Given the description of an element on the screen output the (x, y) to click on. 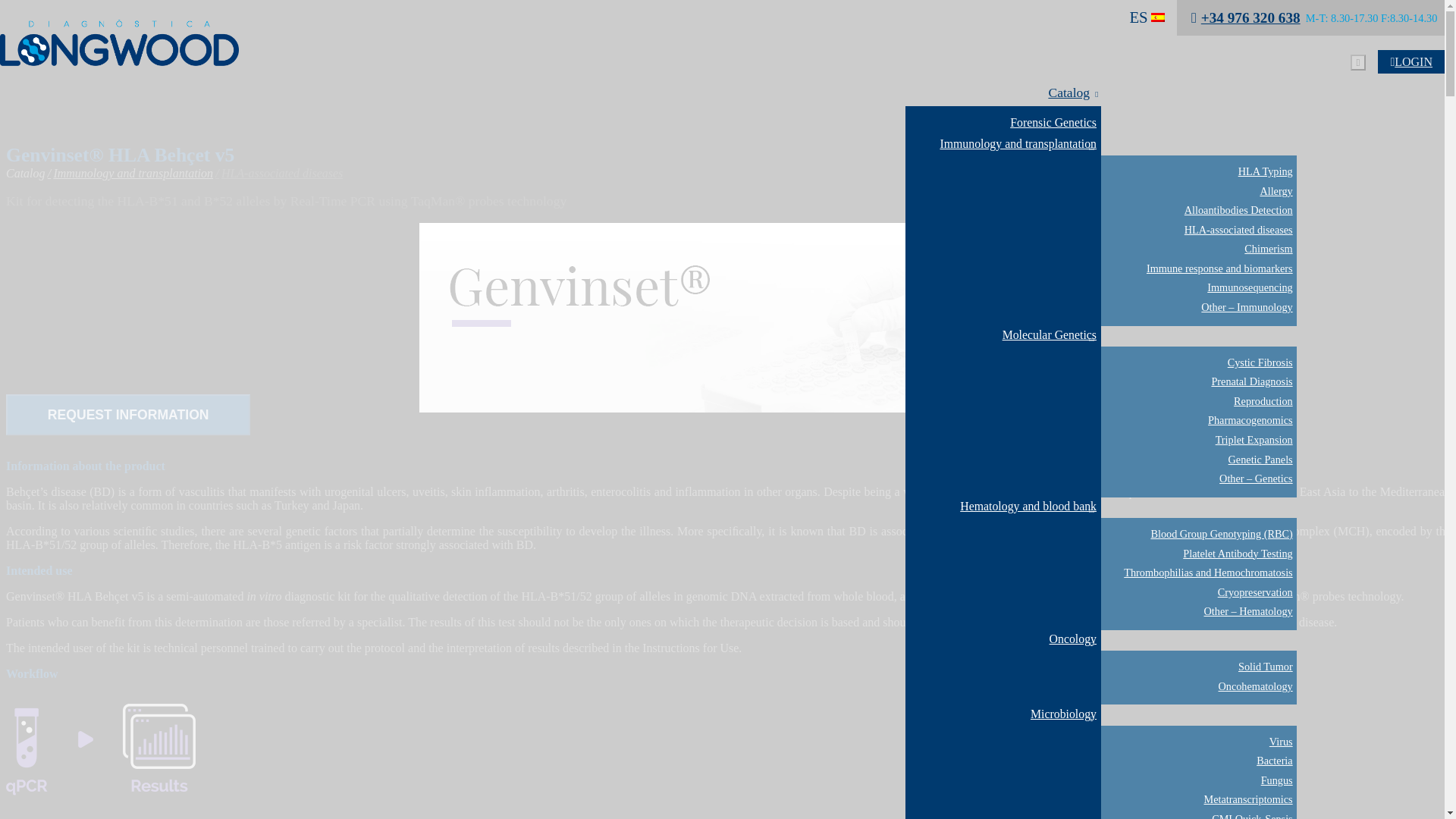
Immune response and biomarkers (1198, 270)
HLA Typing (1198, 172)
Cystic Fibrosis (1198, 363)
Microbiology (1002, 714)
ES (1146, 17)
Forensic Genetics (1002, 123)
Forensic Genetics (1002, 123)
Telephone (1245, 17)
Platelet Antibody Testing (1198, 555)
Catalog (1068, 94)
